Given the description of an element on the screen output the (x, y) to click on. 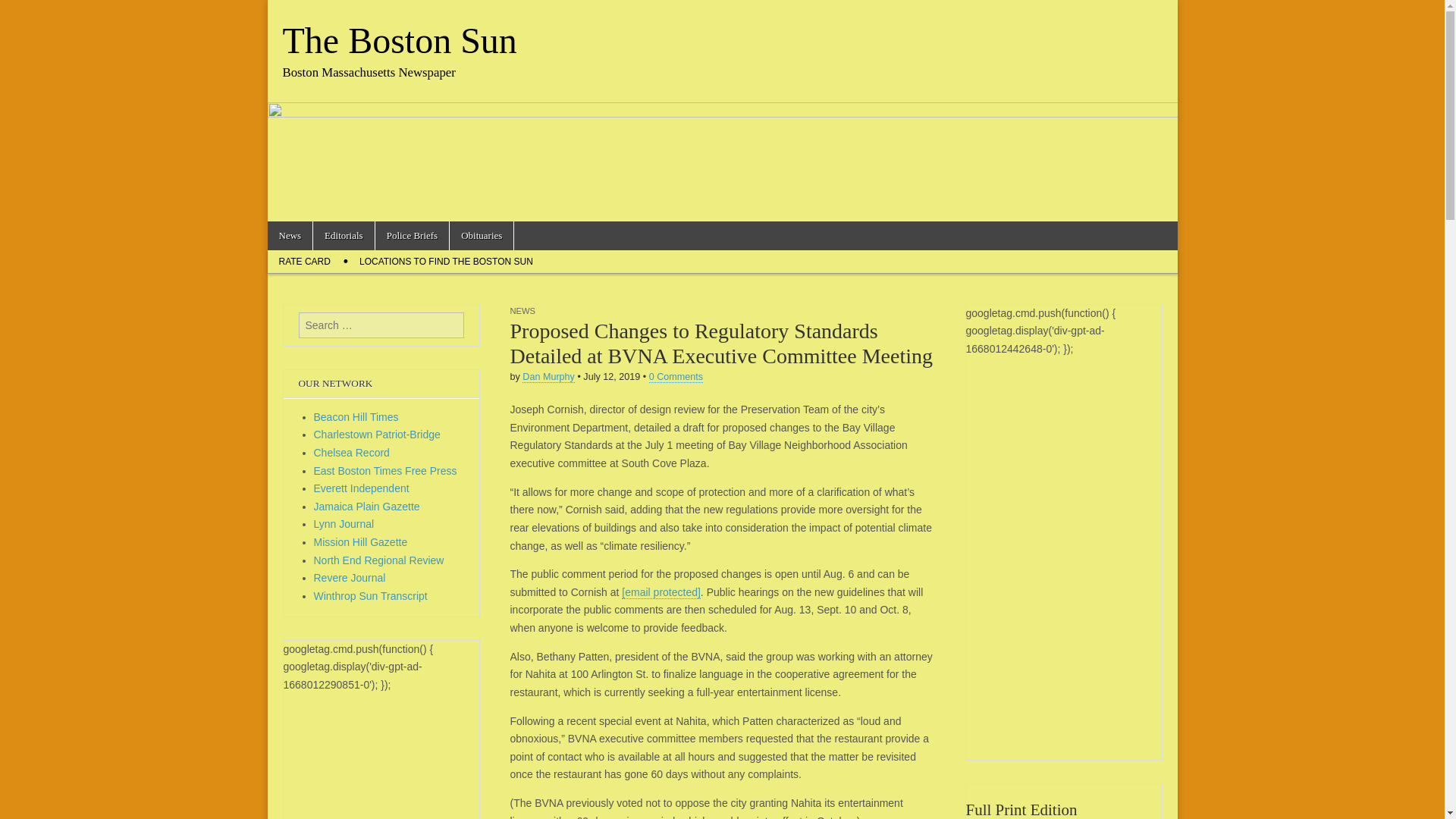
Chelsea Record (352, 452)
NEWS (522, 310)
The Boston Sun (399, 40)
Everett Independent (361, 488)
Charlestown Patriot-Bridge (377, 434)
Lynn Journal (344, 523)
Mission Hill Gazette (360, 541)
Obituaries (481, 235)
Revere Journal (349, 577)
